Given the description of an element on the screen output the (x, y) to click on. 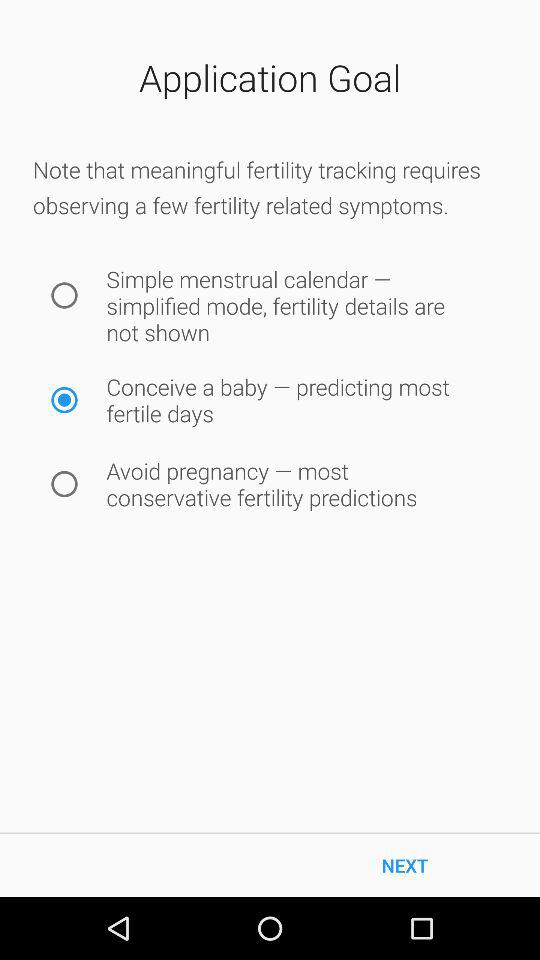
set goal as simple menstrual calendar (64, 295)
